Given the description of an element on the screen output the (x, y) to click on. 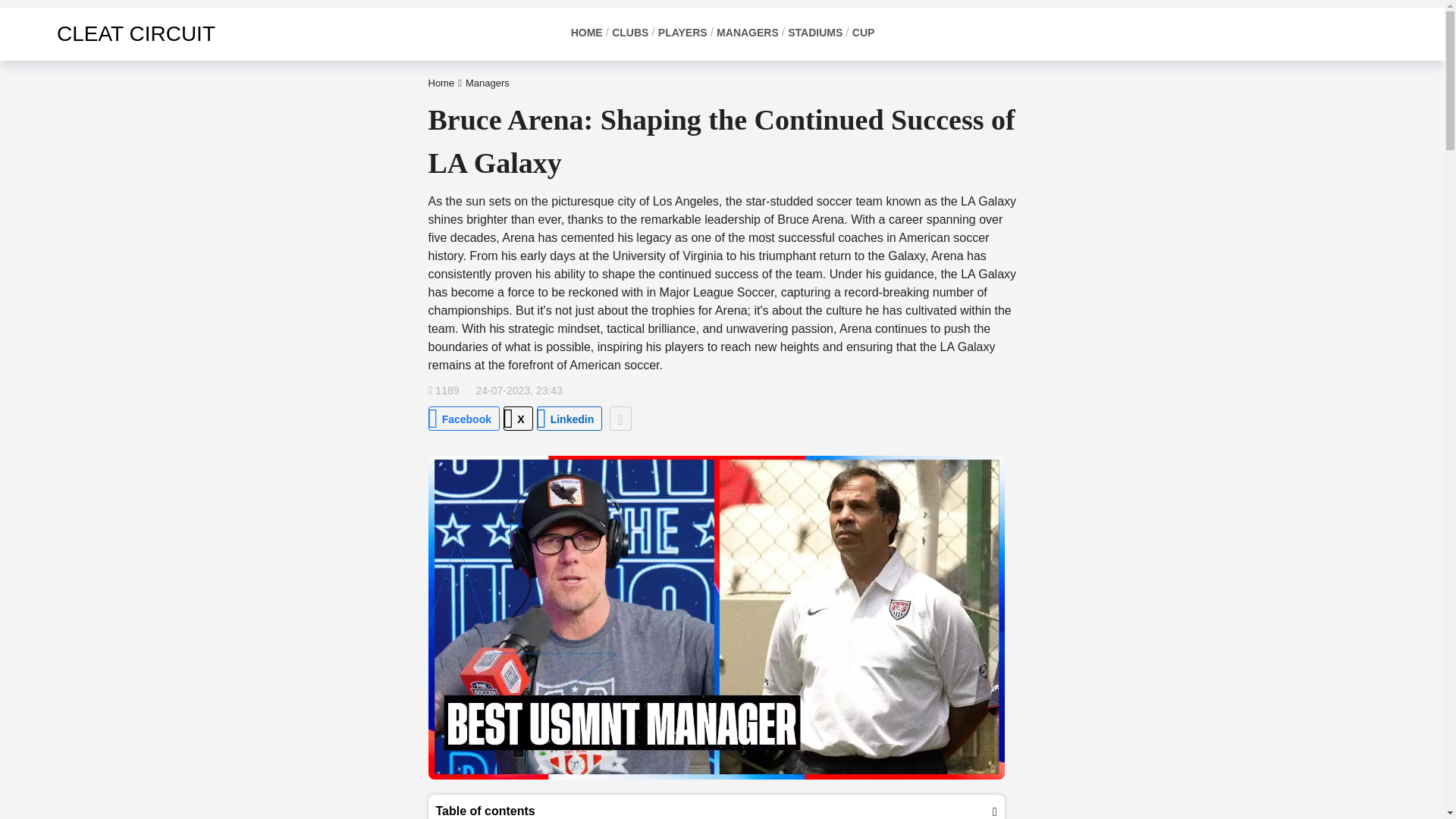
Managers (487, 82)
Views (443, 390)
Share via Facebook (463, 418)
Share via X (517, 418)
Home (441, 82)
MANAGERS (747, 32)
Share via Linkedin (569, 418)
STADIUMS (815, 32)
PLAYERS (682, 32)
CLEAT CIRCUIT (114, 33)
